Given the description of an element on the screen output the (x, y) to click on. 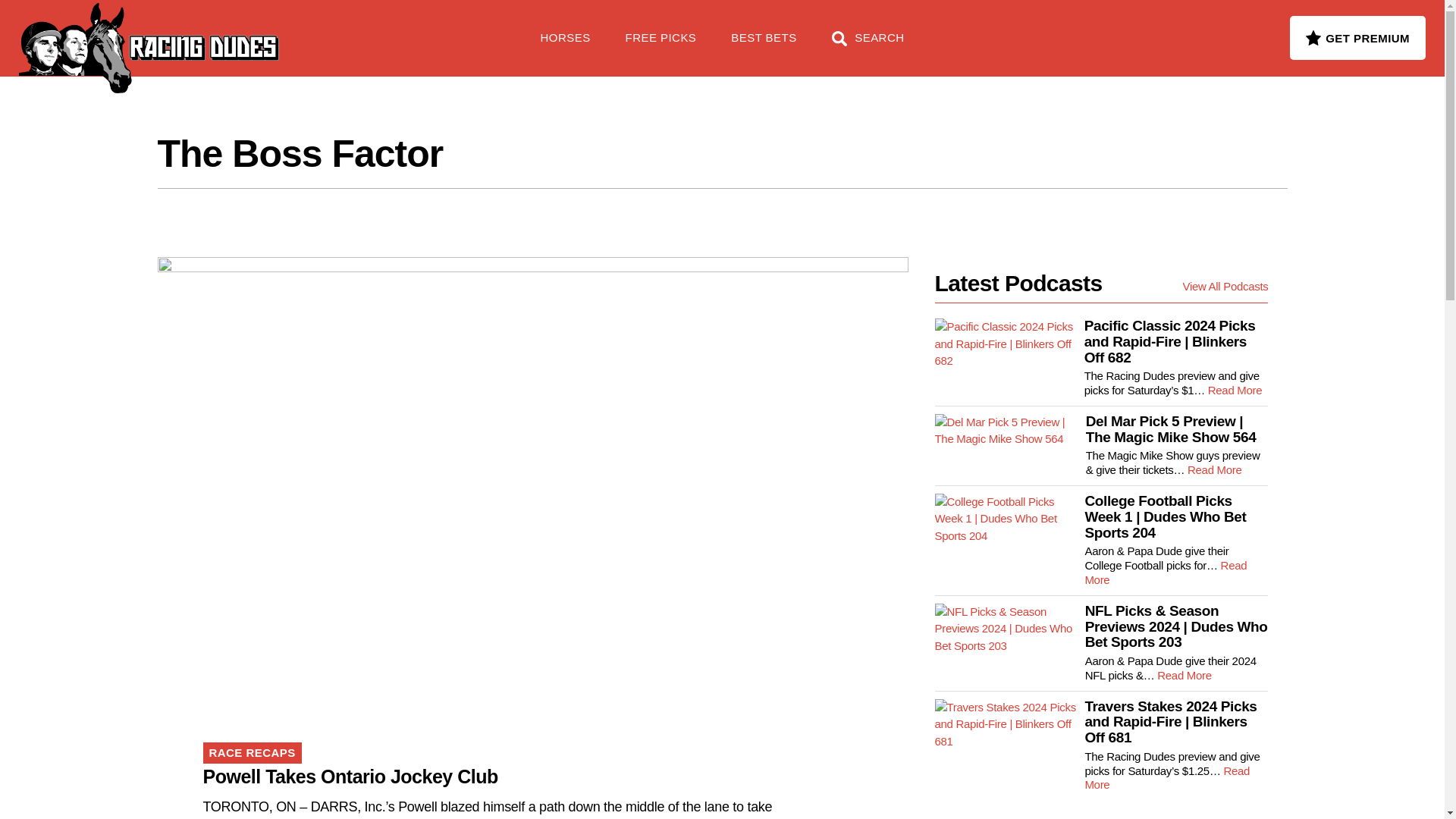
FREE PICKS (661, 45)
 SEARCH (867, 45)
BEST BETS (763, 45)
HORSES (565, 45)
PODCASTS (354, 29)
GET PREMIUM (1357, 37)
FREE PICKS (245, 29)
